Given the description of an element on the screen output the (x, y) to click on. 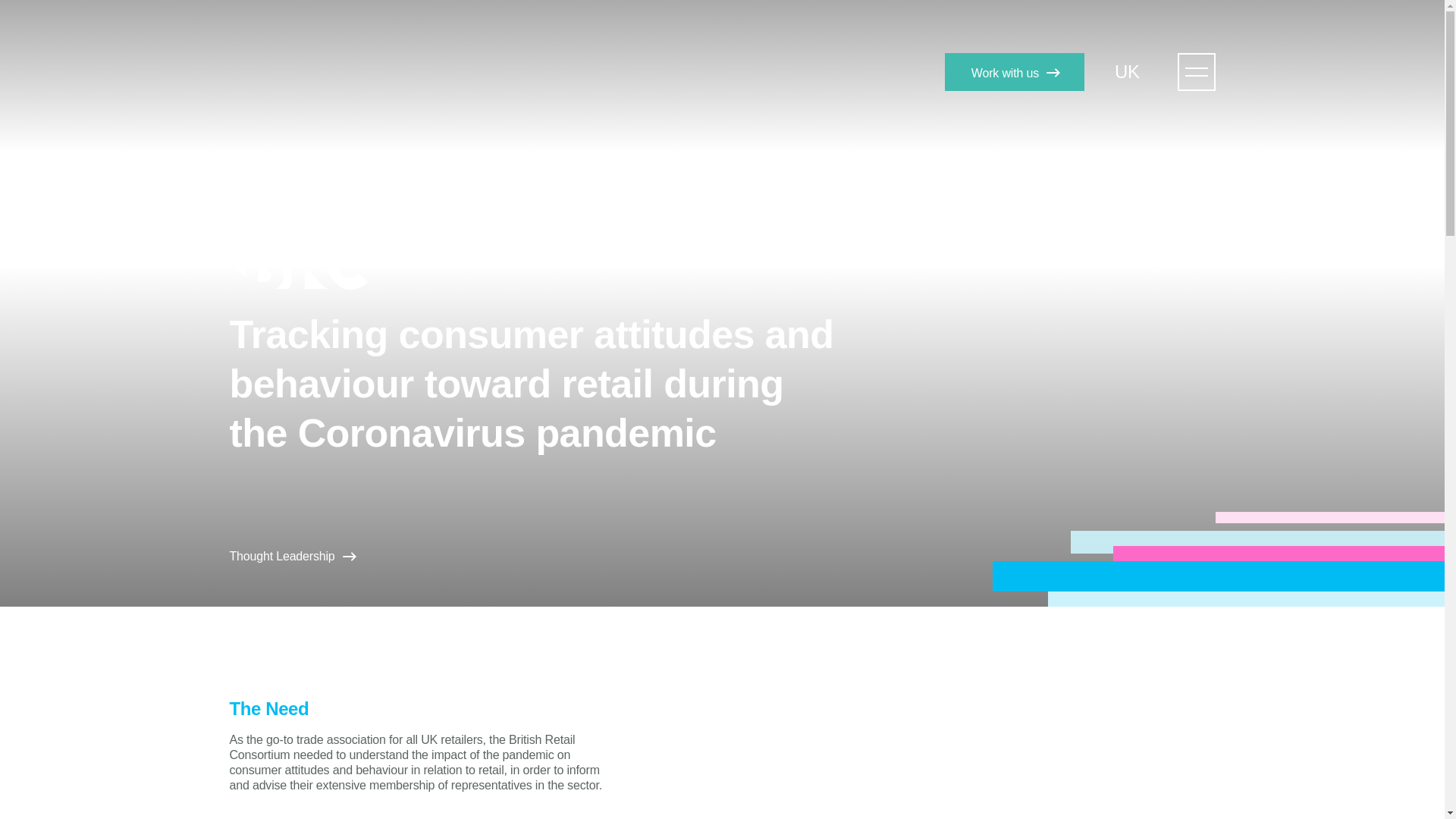
Thought Leadership (291, 556)
UK (1134, 71)
Work with us (1014, 71)
